Given the description of an element on the screen output the (x, y) to click on. 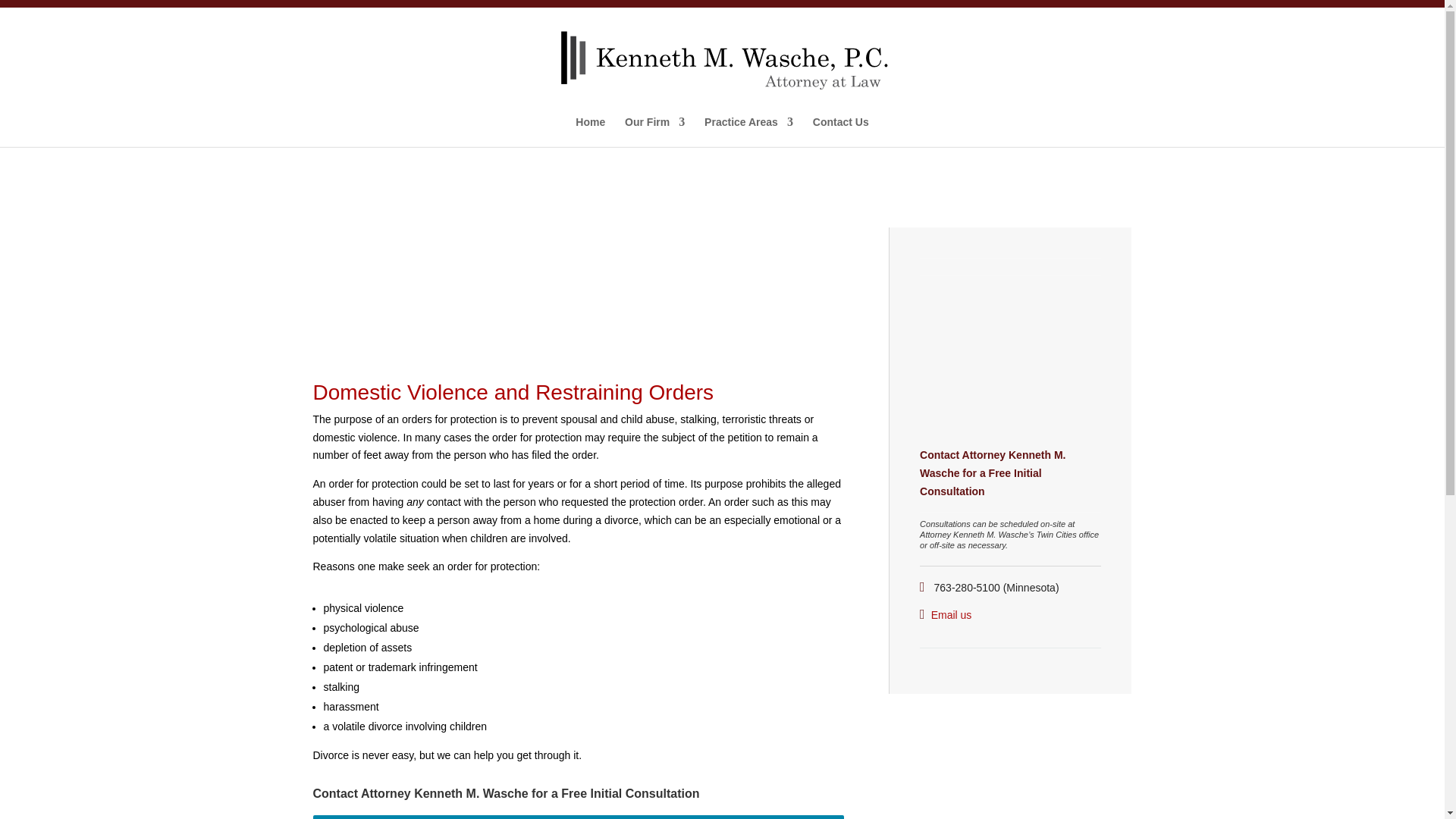
Email us (951, 614)
Our Firm (654, 131)
Practice Areas (748, 131)
Home (590, 131)
Contact Us (840, 131)
